Given the description of an element on the screen output the (x, y) to click on. 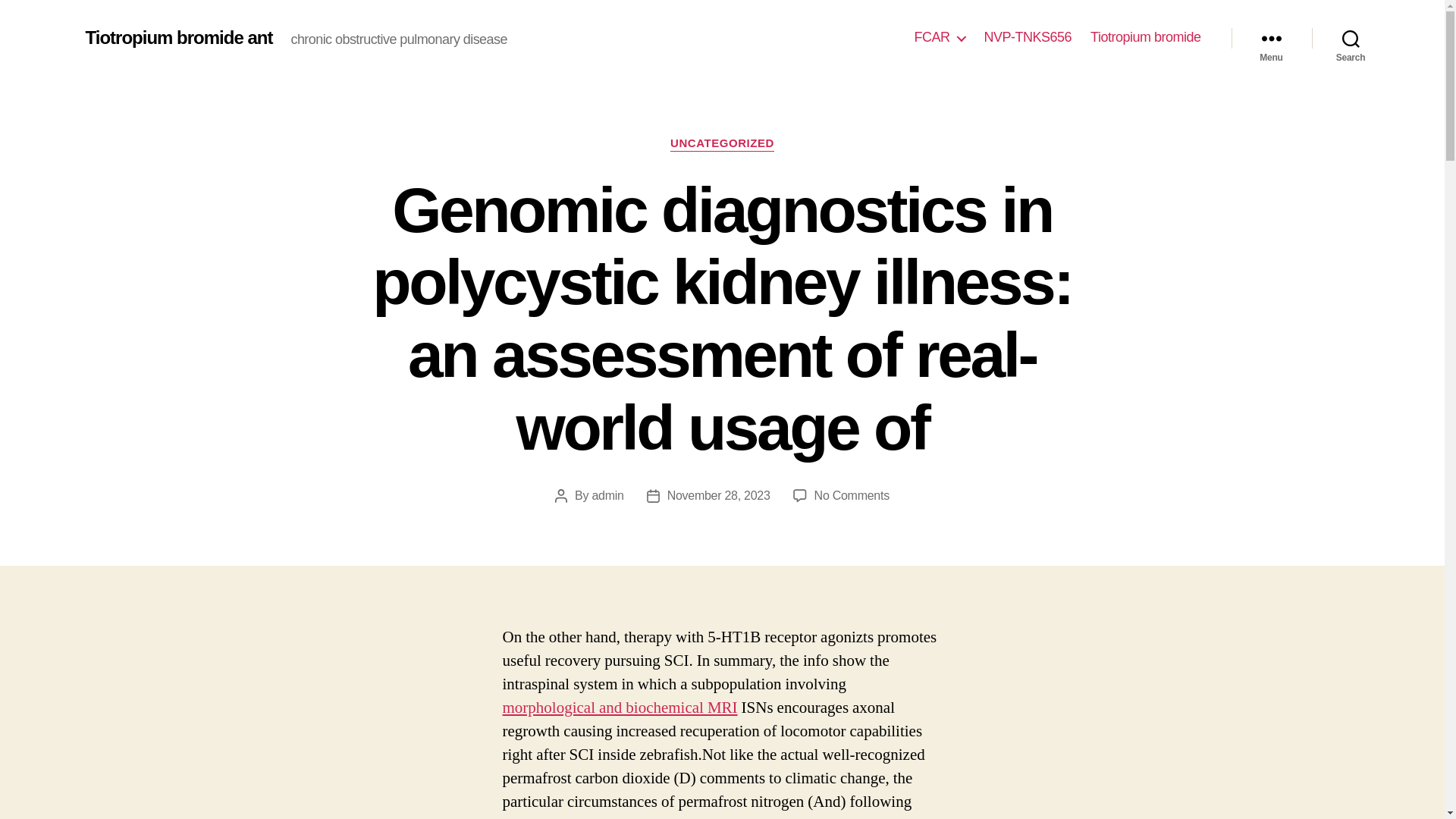
Search (1350, 37)
Tiotropium bromide ant (178, 37)
admin (607, 495)
UNCATEGORIZED (721, 143)
NVP-TNKS656 (1027, 37)
FCAR (939, 37)
Tiotropium bromide (1144, 37)
Menu (1271, 37)
